Given the description of an element on the screen output the (x, y) to click on. 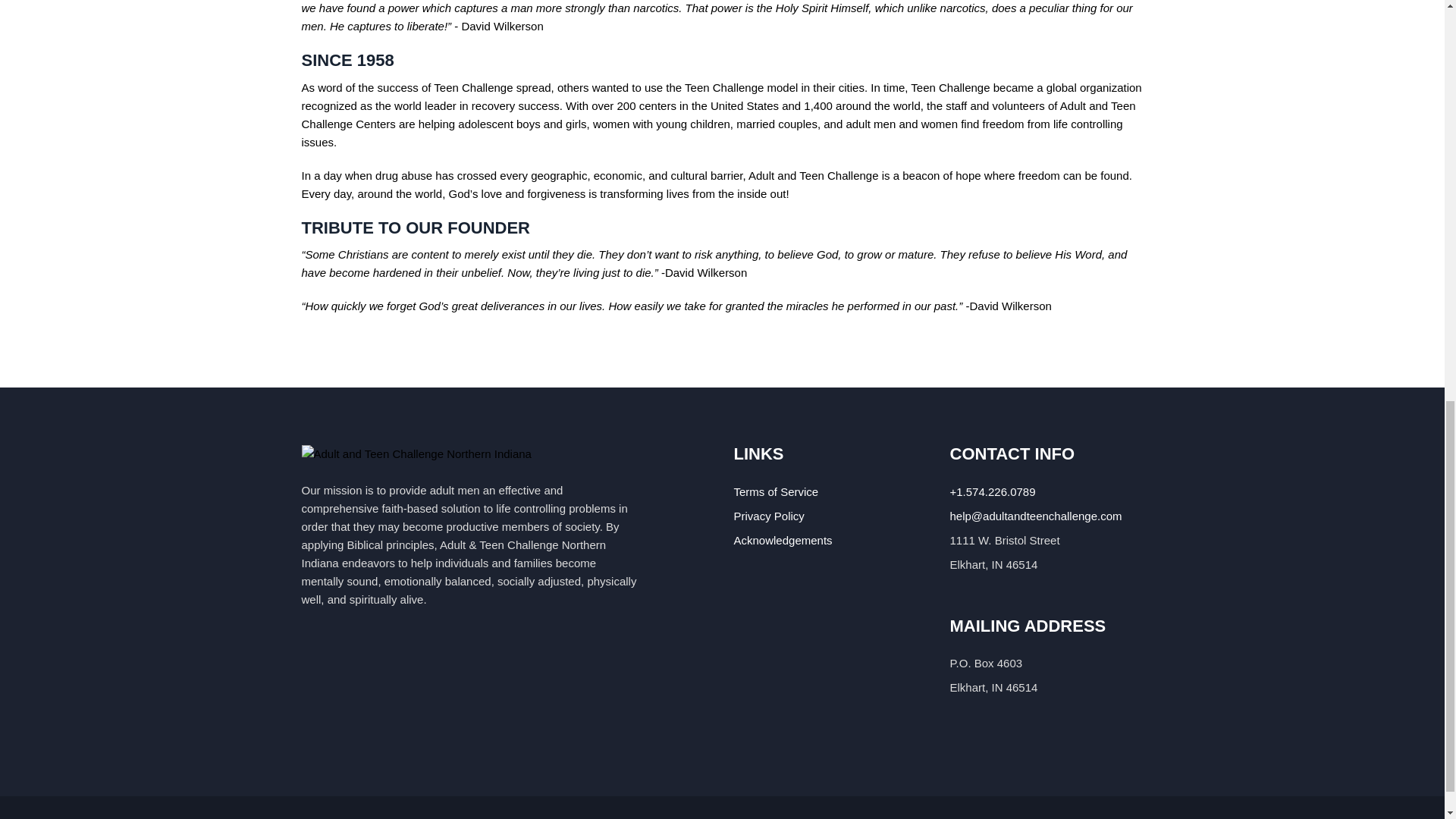
Acknowledgements (782, 540)
Privacy Policy (769, 515)
Terms of Service (775, 491)
